Given the description of an element on the screen output the (x, y) to click on. 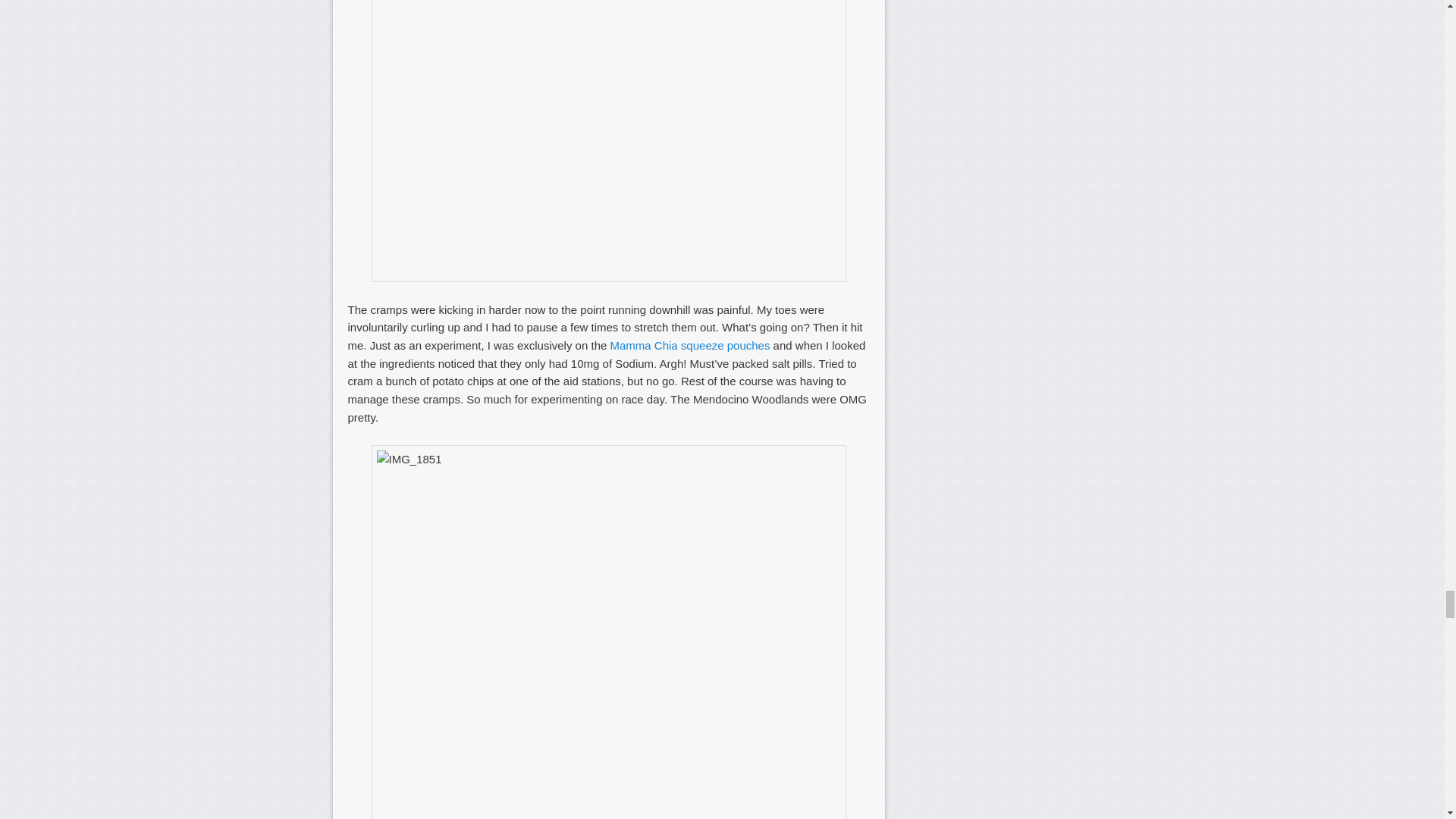
Mamma Chia squeeze pouches (690, 345)
